Given the description of an element on the screen output the (x, y) to click on. 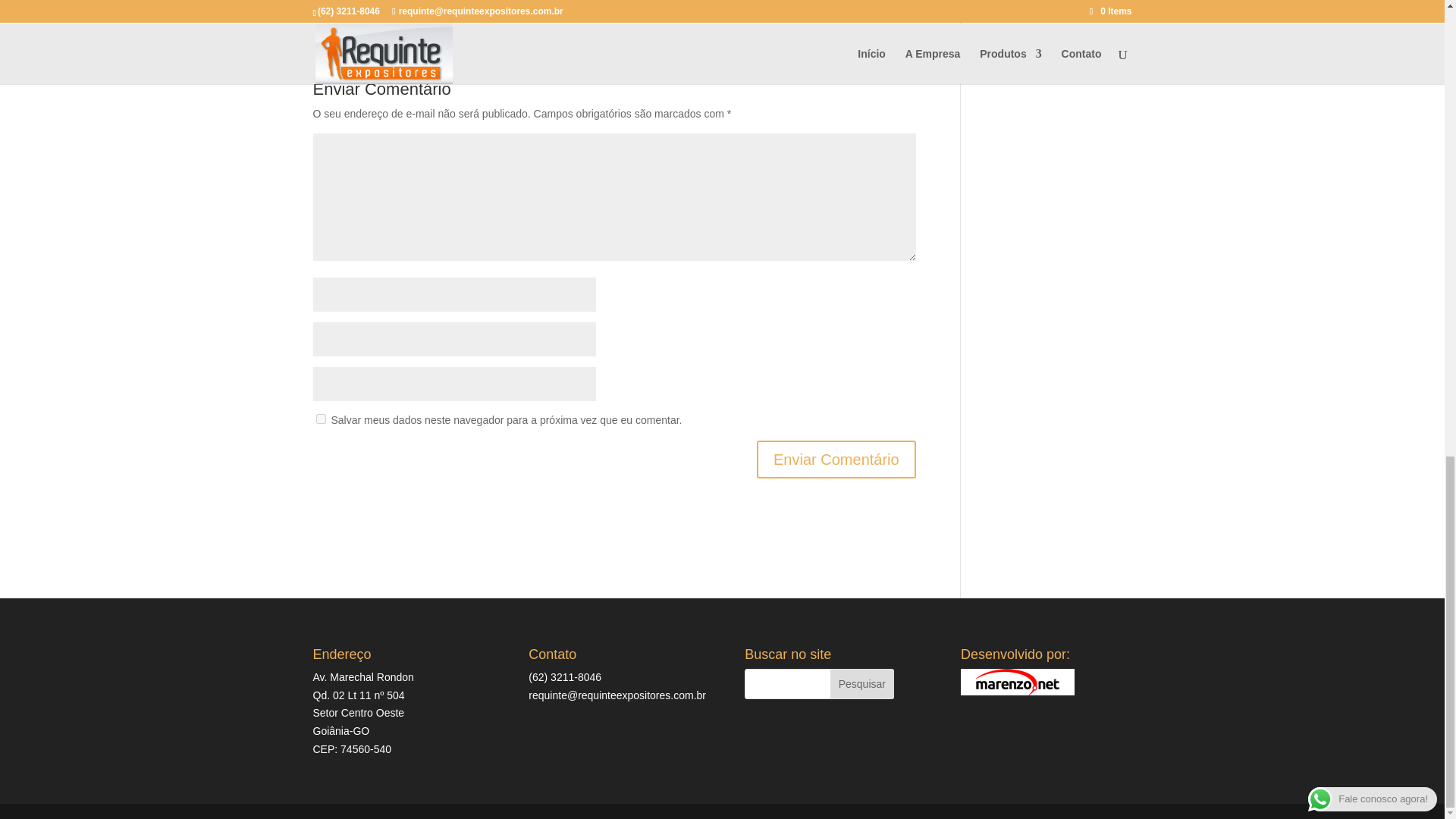
Pesquisar (861, 684)
Pesquisar (861, 684)
yes (319, 419)
